Given the description of an element on the screen output the (x, y) to click on. 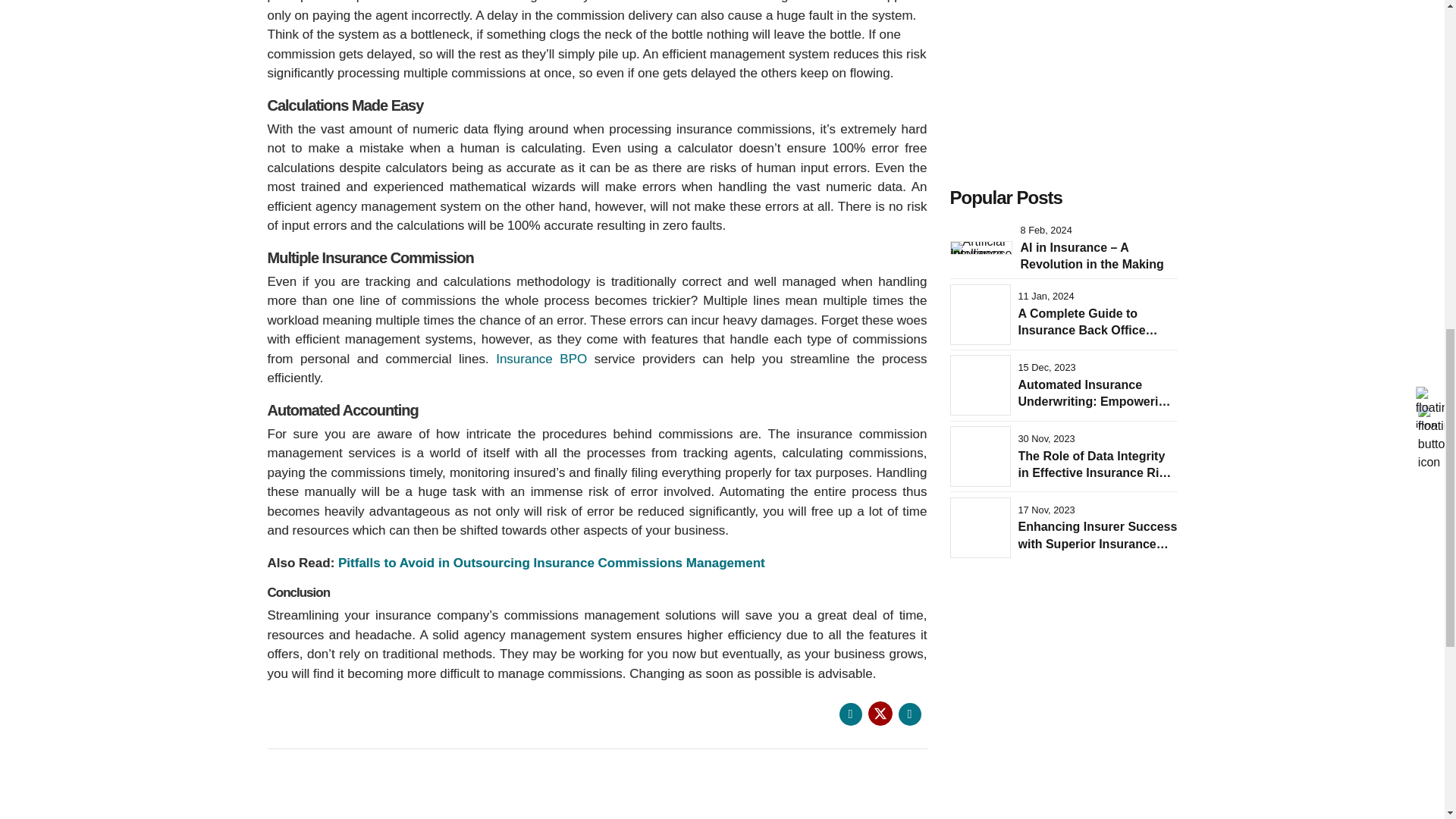
A Complete Guide to Insurance Back Office Operations (1087, 330)
Share on Linkedin (909, 713)
Insurance BPO (541, 359)
Share on Twitter (879, 713)
myFrame (1062, 72)
Share on Facebook (849, 713)
